Given the description of an element on the screen output the (x, y) to click on. 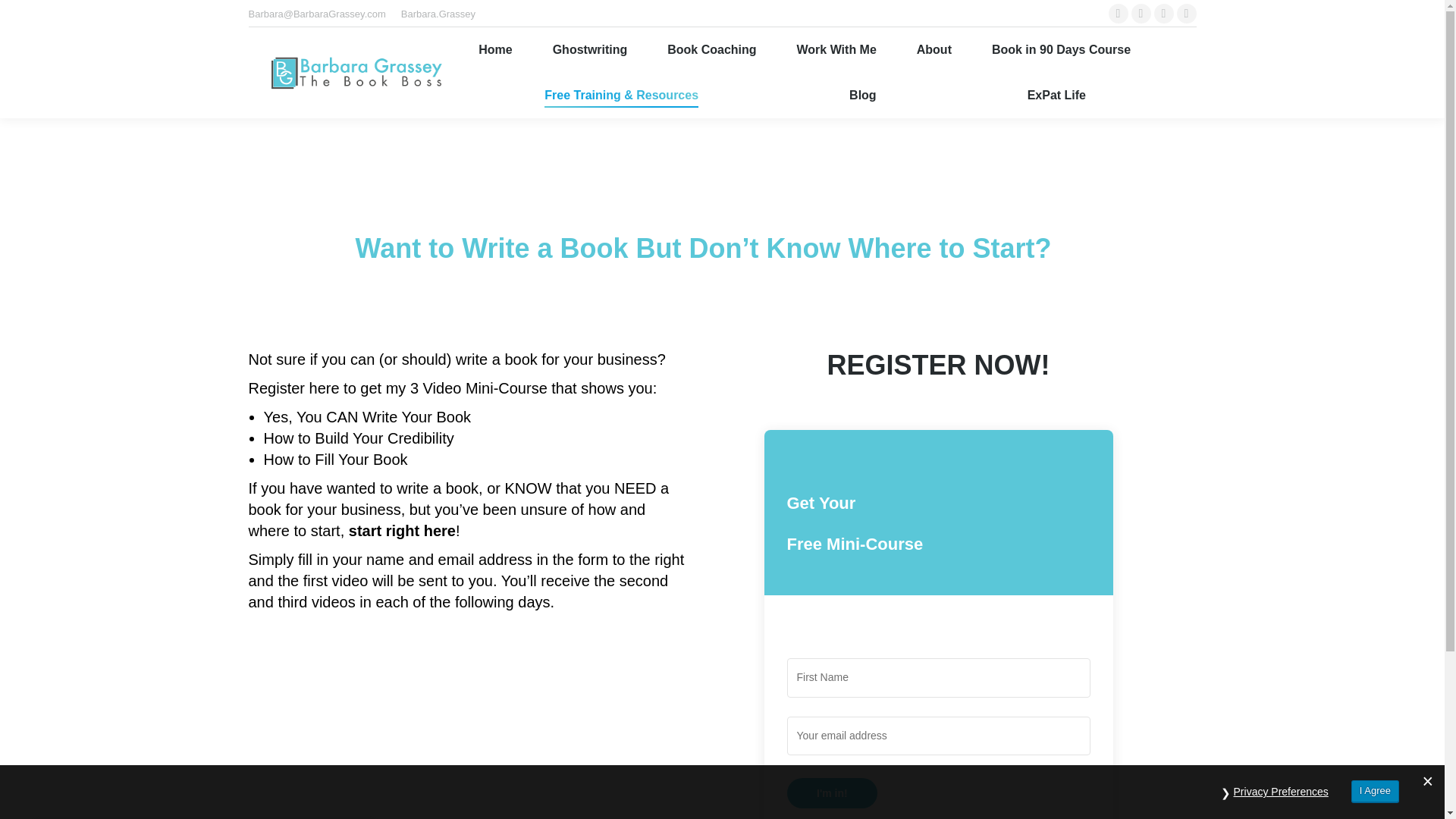
Facebook page opens in new window (1118, 13)
YouTube page opens in new window (1186, 13)
Book in 90 Days Course (1060, 49)
Facebook page opens in new window (1118, 13)
ExPat Life (1056, 95)
Blog (863, 95)
Book Coaching (711, 49)
Work With Me (836, 49)
Ghostwriting (590, 49)
Twitter page opens in new window (1141, 13)
Go! (24, 16)
About (933, 49)
Linkedin page opens in new window (1163, 13)
Twitter page opens in new window (1141, 13)
Linkedin page opens in new window (1163, 13)
